Given the description of an element on the screen output the (x, y) to click on. 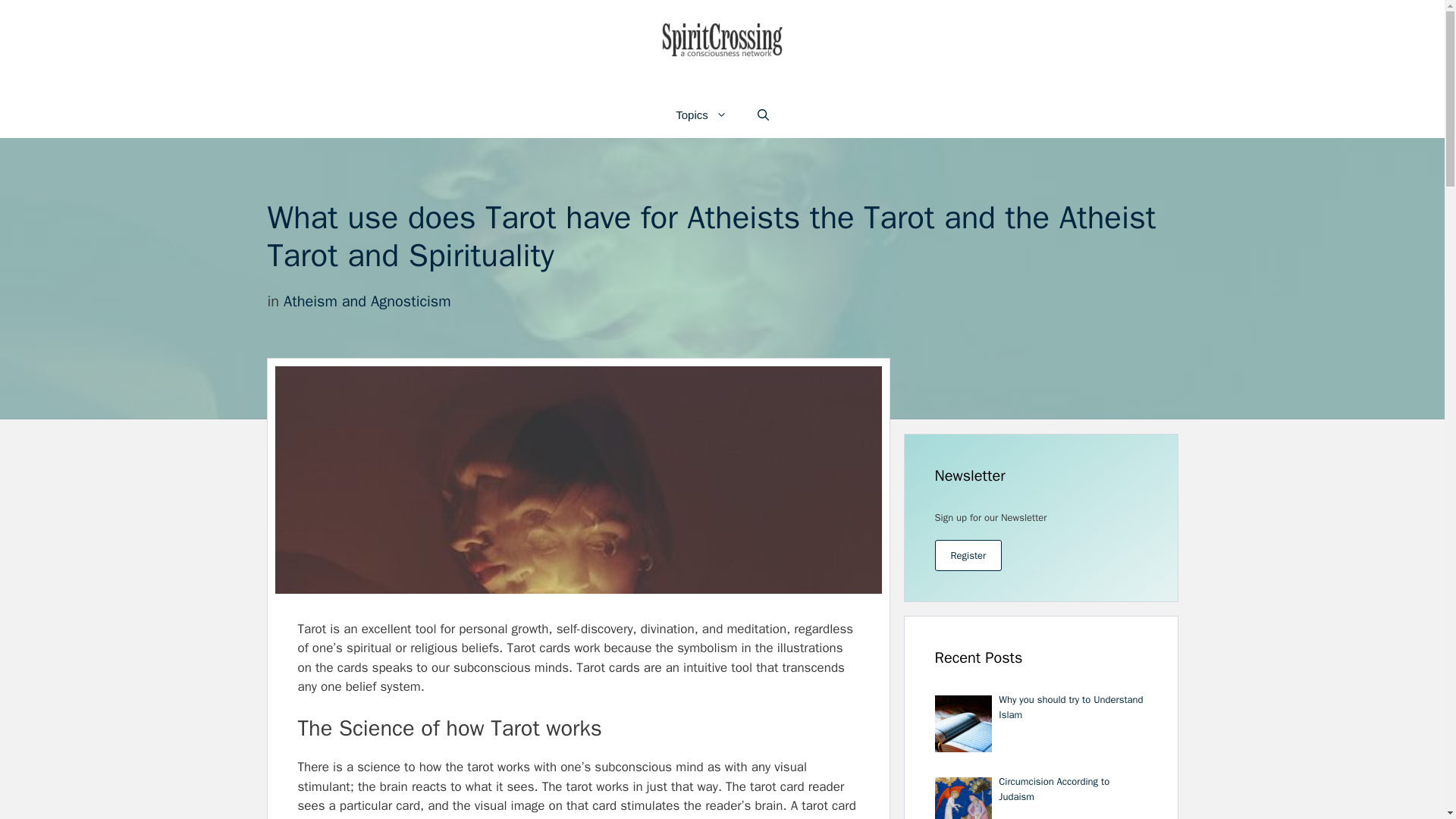
Topics (701, 115)
